Given the description of an element on the screen output the (x, y) to click on. 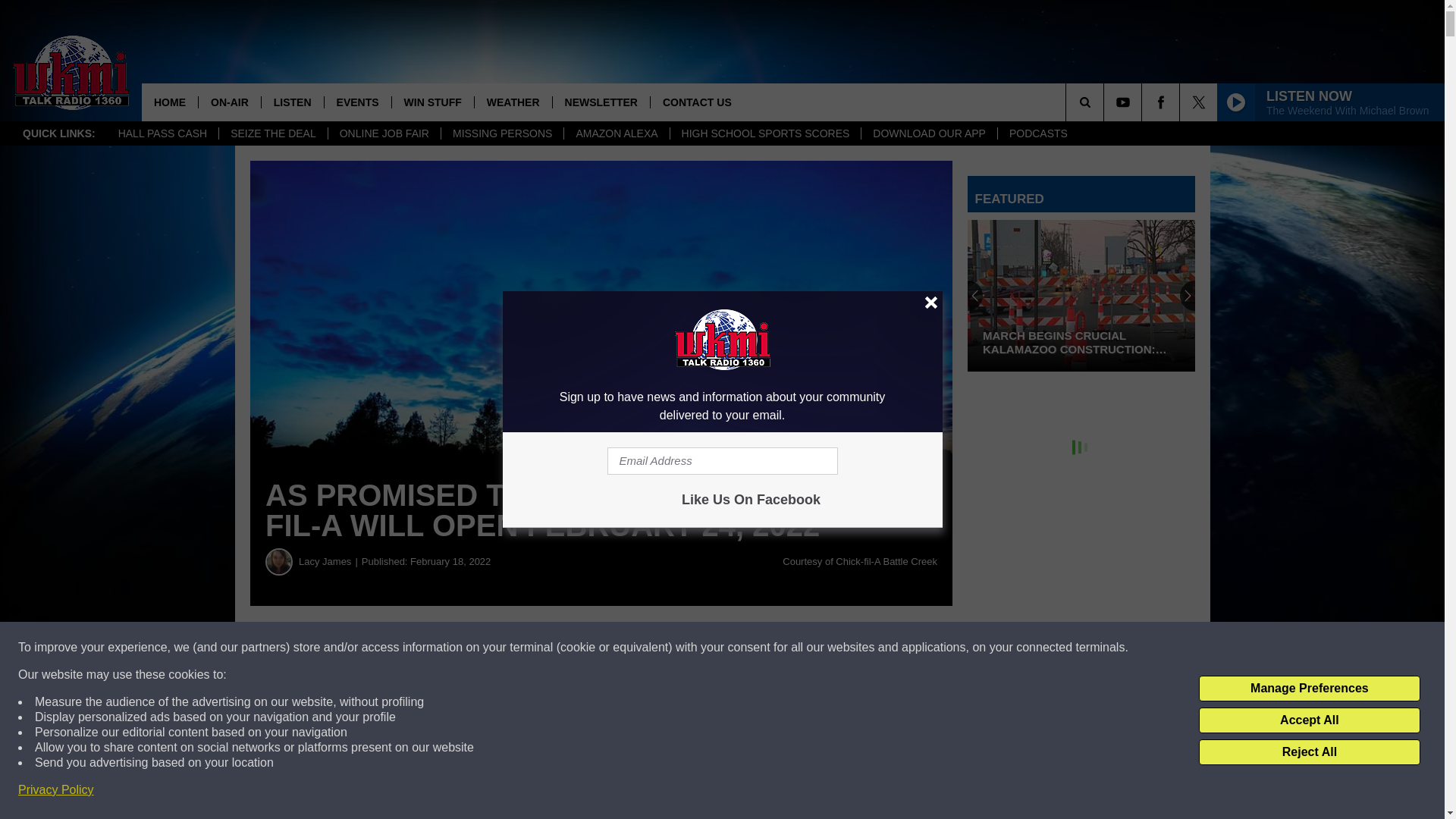
Accept All (1309, 720)
LISTEN (291, 102)
DOWNLOAD OUR APP (928, 133)
AMAZON ALEXA (615, 133)
WIN STUFF (432, 102)
EVENTS (357, 102)
MISSING PERSONS (502, 133)
Email Address (722, 461)
HALL PASS CASH (162, 133)
PODCASTS (1037, 133)
SEIZE THE DEAL (272, 133)
Manage Preferences (1309, 688)
CONTACT US (696, 102)
WEATHER (512, 102)
HOME (169, 102)
